Given the description of an element on the screen output the (x, y) to click on. 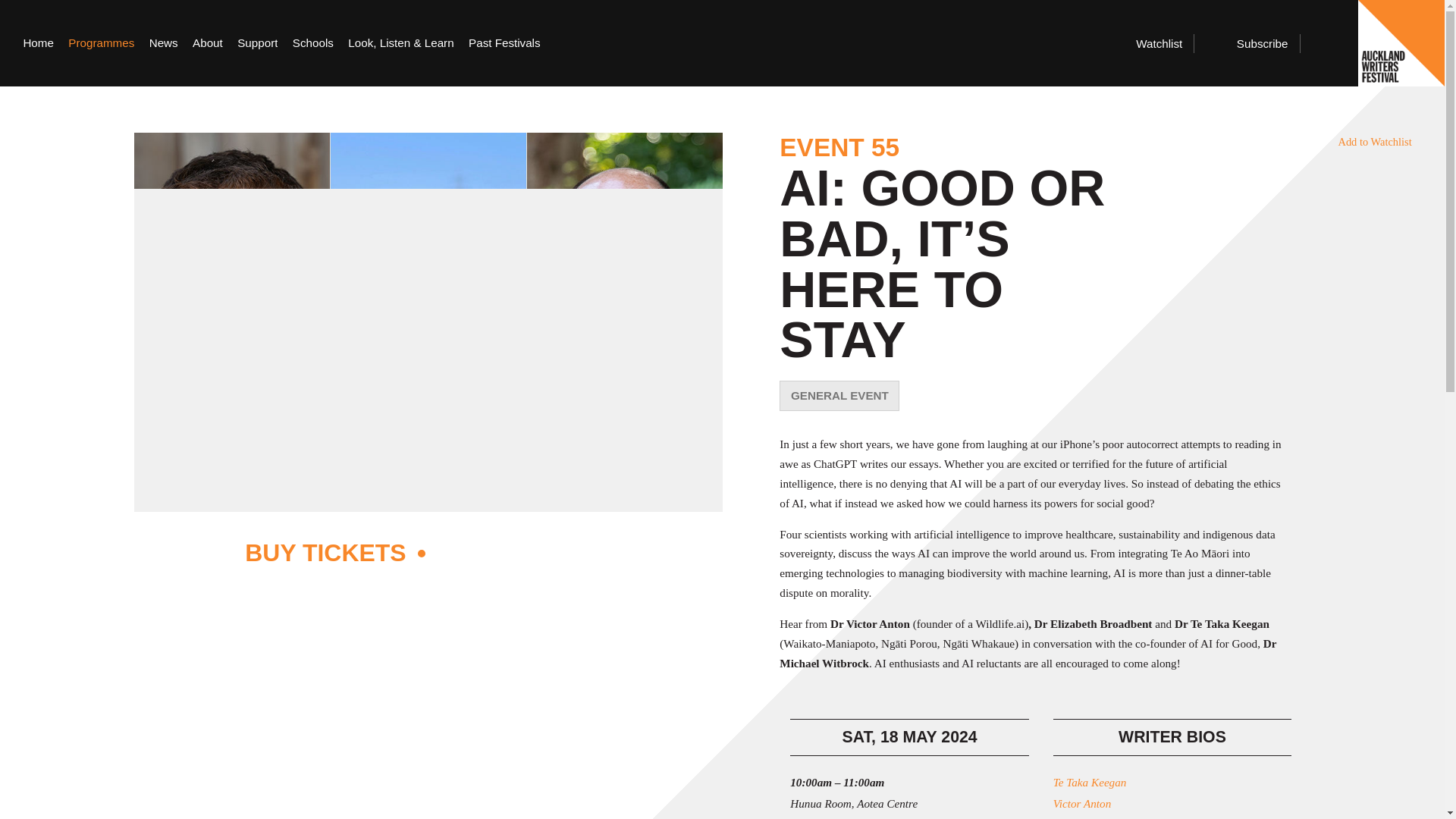
Instagram (1065, 43)
Add to Watchlist (1361, 141)
Programmes (100, 43)
GENERAL EVENT (838, 395)
Elizabeth Broadbent (1172, 817)
Schools (312, 43)
BUY TICKETS (427, 555)
Home (38, 43)
Past Festivals (504, 43)
News (163, 43)
Support (257, 43)
Subscribe (1254, 43)
About (207, 43)
Victor Anton (1172, 803)
Watchlist (1152, 43)
